Given the description of an element on the screen output the (x, y) to click on. 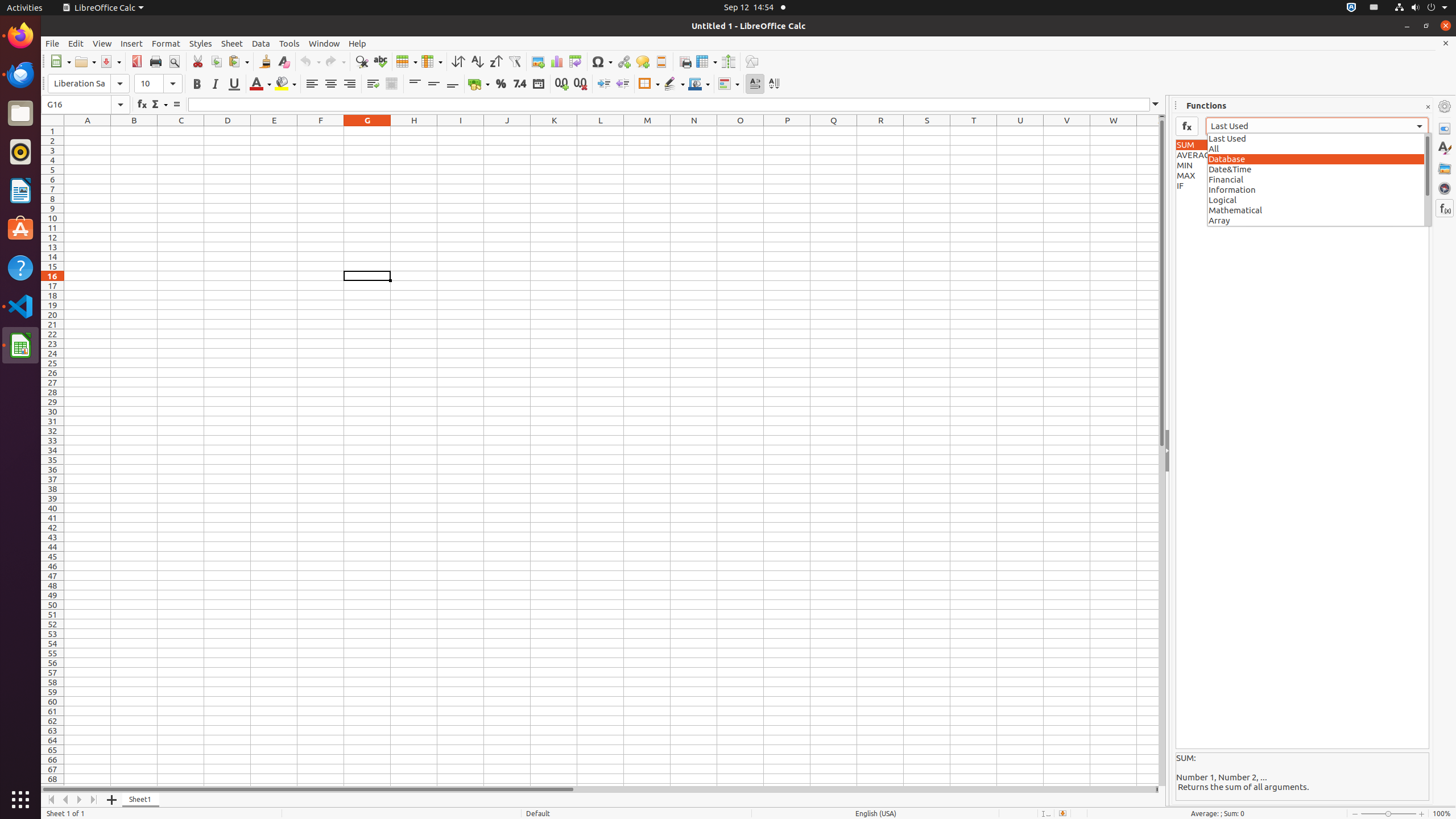
Chart Element type: push-button (556, 61)
K1 Element type: table-cell (553, 130)
Cut Element type: push-button (197, 61)
LibreOffice Writer Element type: push-button (20, 190)
Q1 Element type: table-cell (833, 130)
